Given the description of an element on the screen output the (x, y) to click on. 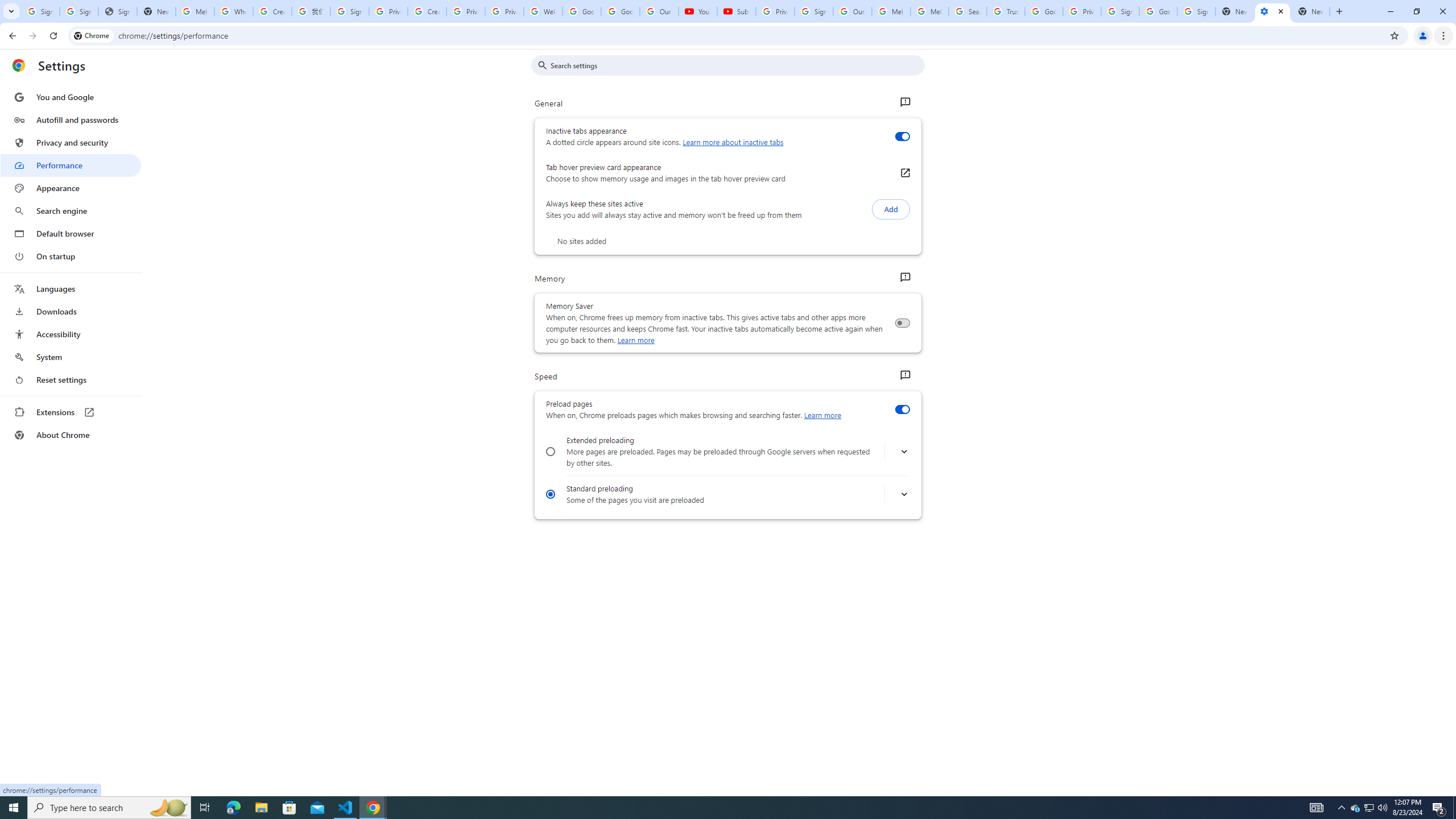
You and Google (70, 96)
About Chrome (70, 434)
Extended preloading (550, 452)
Sign in - Google Accounts (79, 11)
Inactive tabs appearance (901, 136)
 More info about turning on standard preloading (903, 494)
Speed (904, 375)
Create your Google Account (272, 11)
Accessibility (70, 333)
